Given the description of an element on the screen output the (x, y) to click on. 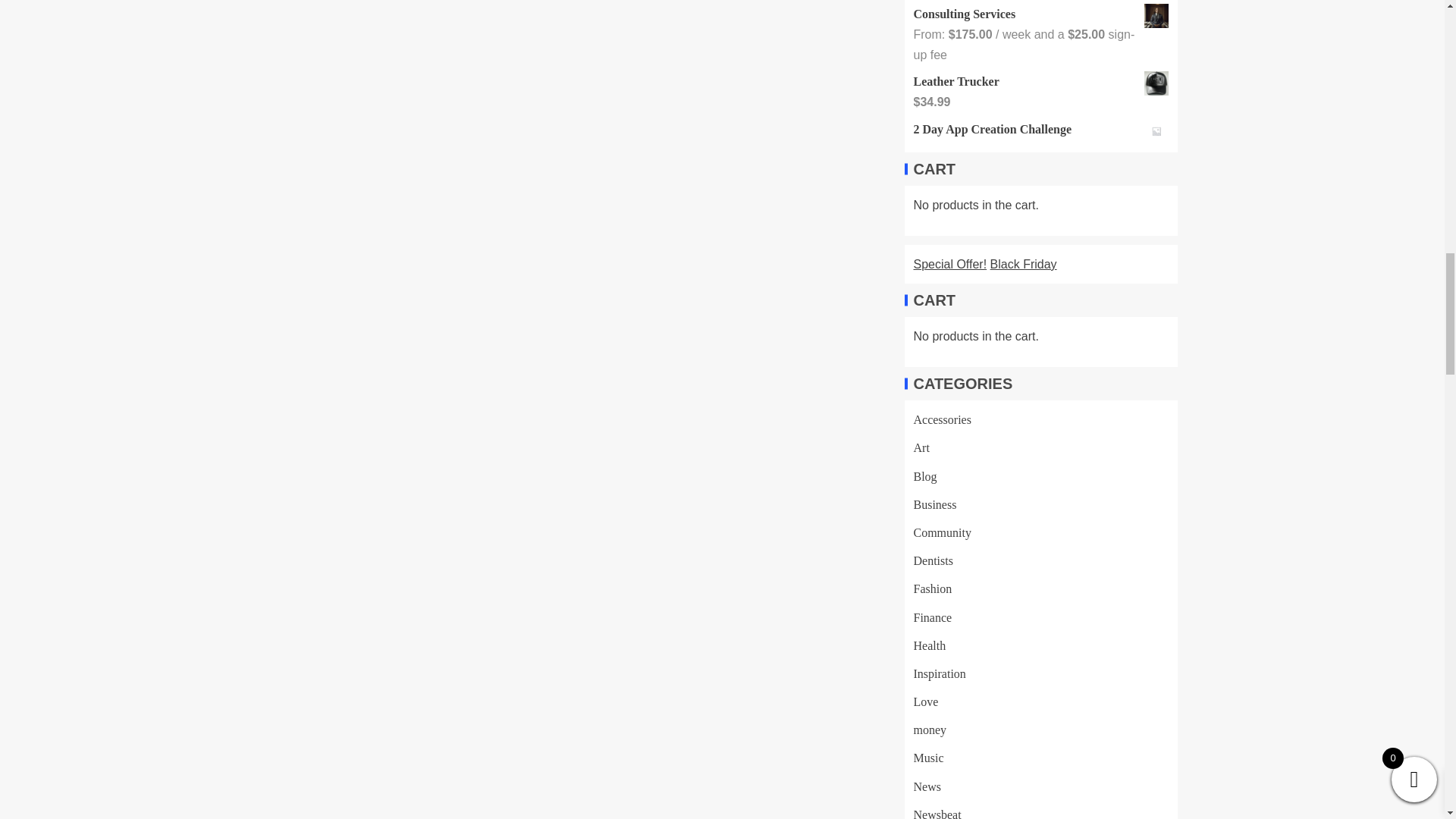
Black Friday (1023, 264)
Special Offer! (949, 264)
